Given the description of an element on the screen output the (x, y) to click on. 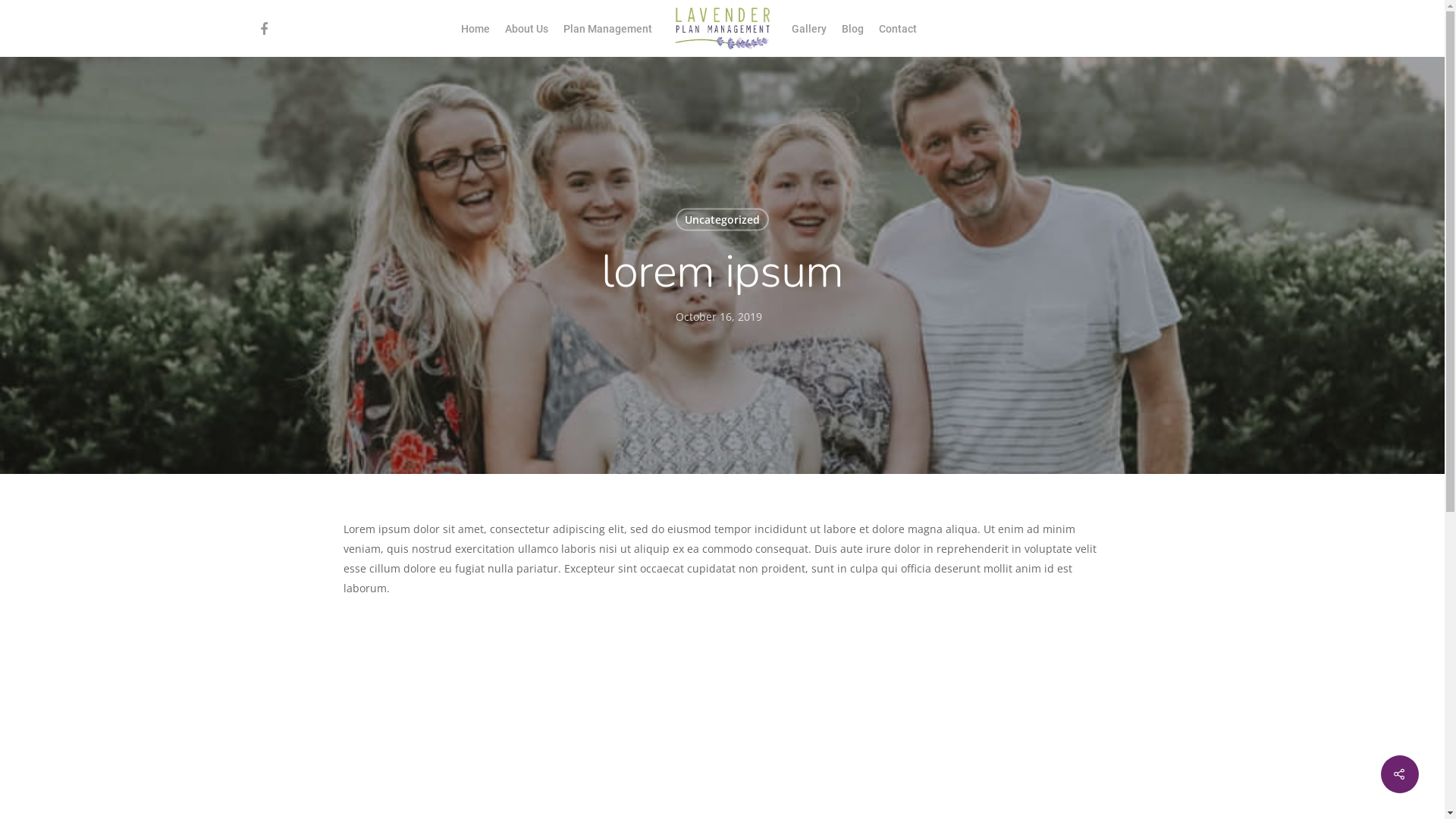
Contact Element type: text (897, 27)
Blog Element type: text (852, 27)
Home Element type: text (475, 27)
Plan Management Element type: text (607, 27)
About Us Element type: text (526, 27)
Gallery Element type: text (808, 27)
Uncategorized Element type: text (721, 218)
